Given the description of an element on the screen output the (x, y) to click on. 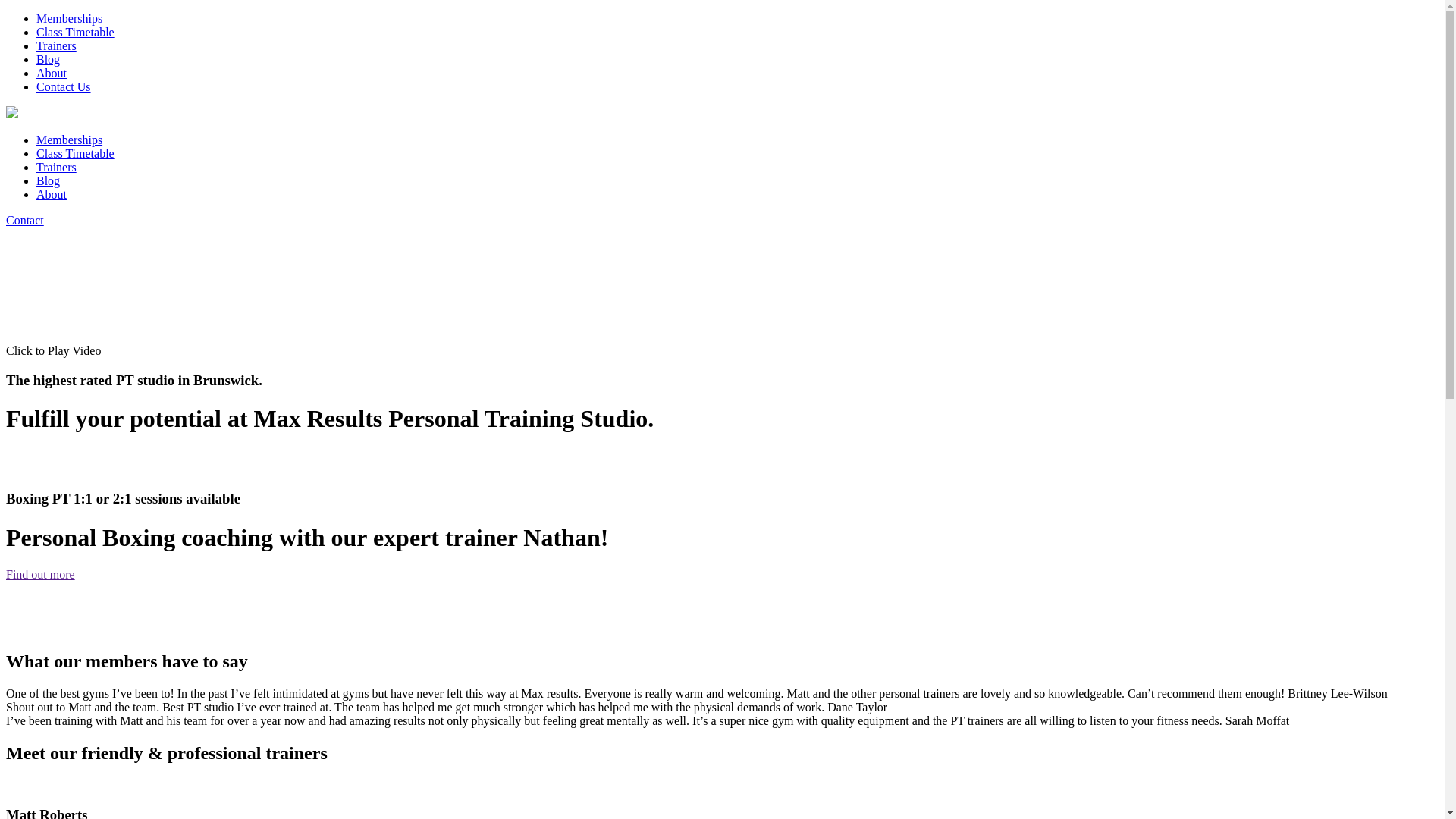
About Element type: text (51, 72)
Blog Element type: text (47, 59)
Contact Element type: text (24, 219)
Class Timetable Element type: text (75, 31)
Blog Element type: text (47, 180)
Contact Us Element type: text (63, 86)
Trainers Element type: text (56, 166)
Find out more Element type: text (40, 573)
Trainers Element type: text (56, 45)
Memberships Element type: text (69, 18)
Memberships Element type: text (69, 139)
Class Timetable Element type: text (75, 153)
About Element type: text (51, 194)
